Given the description of an element on the screen output the (x, y) to click on. 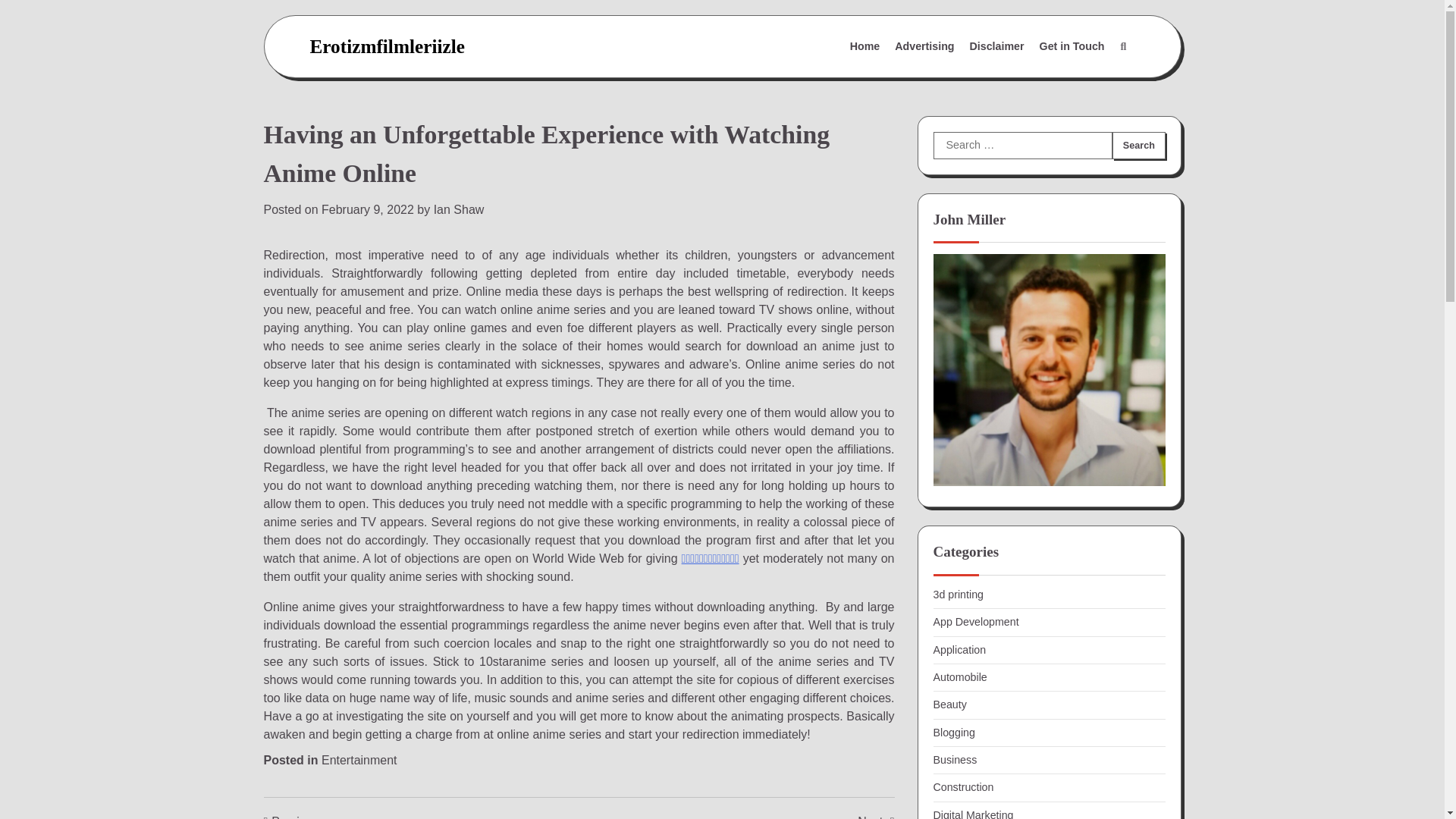
Search (1138, 144)
Ian Shaw (458, 209)
February 9, 2022 (367, 209)
Home (865, 46)
Get in Touch (1072, 46)
Advertising (923, 46)
Disclaimer (997, 46)
Search (1123, 47)
3d printing (957, 594)
Beauty (949, 704)
Blogging (953, 732)
Search (1138, 144)
Digital Marketing (973, 814)
